Given the description of an element on the screen output the (x, y) to click on. 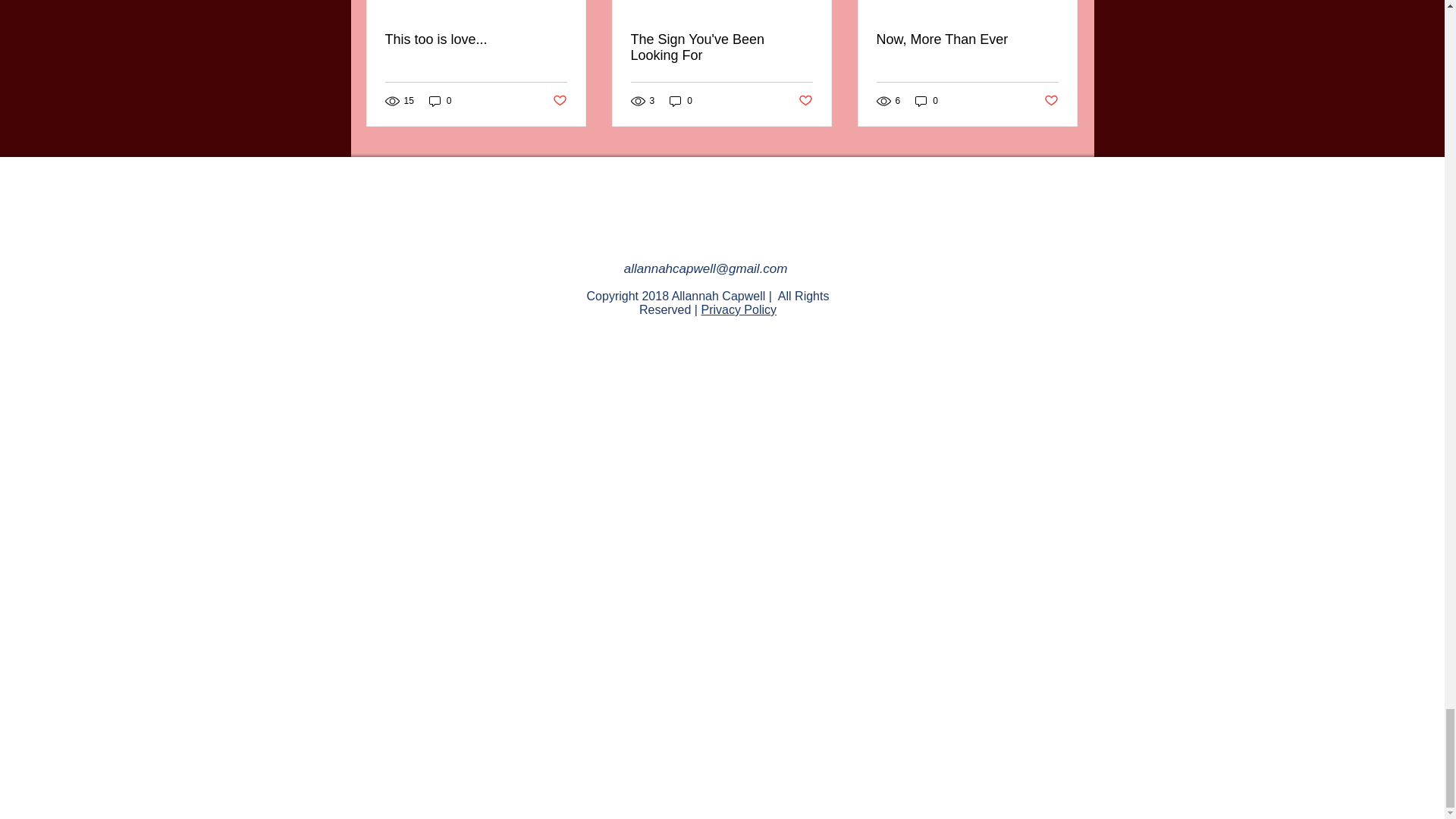
Post not marked as liked (804, 100)
0 (440, 101)
0 (681, 101)
Post not marked as liked (558, 100)
The Sign You've Been Looking For (721, 47)
Now, More Than Ever (967, 39)
Post not marked as liked (1050, 100)
0 (926, 101)
This too is love... (476, 39)
